Given the description of an element on the screen output the (x, y) to click on. 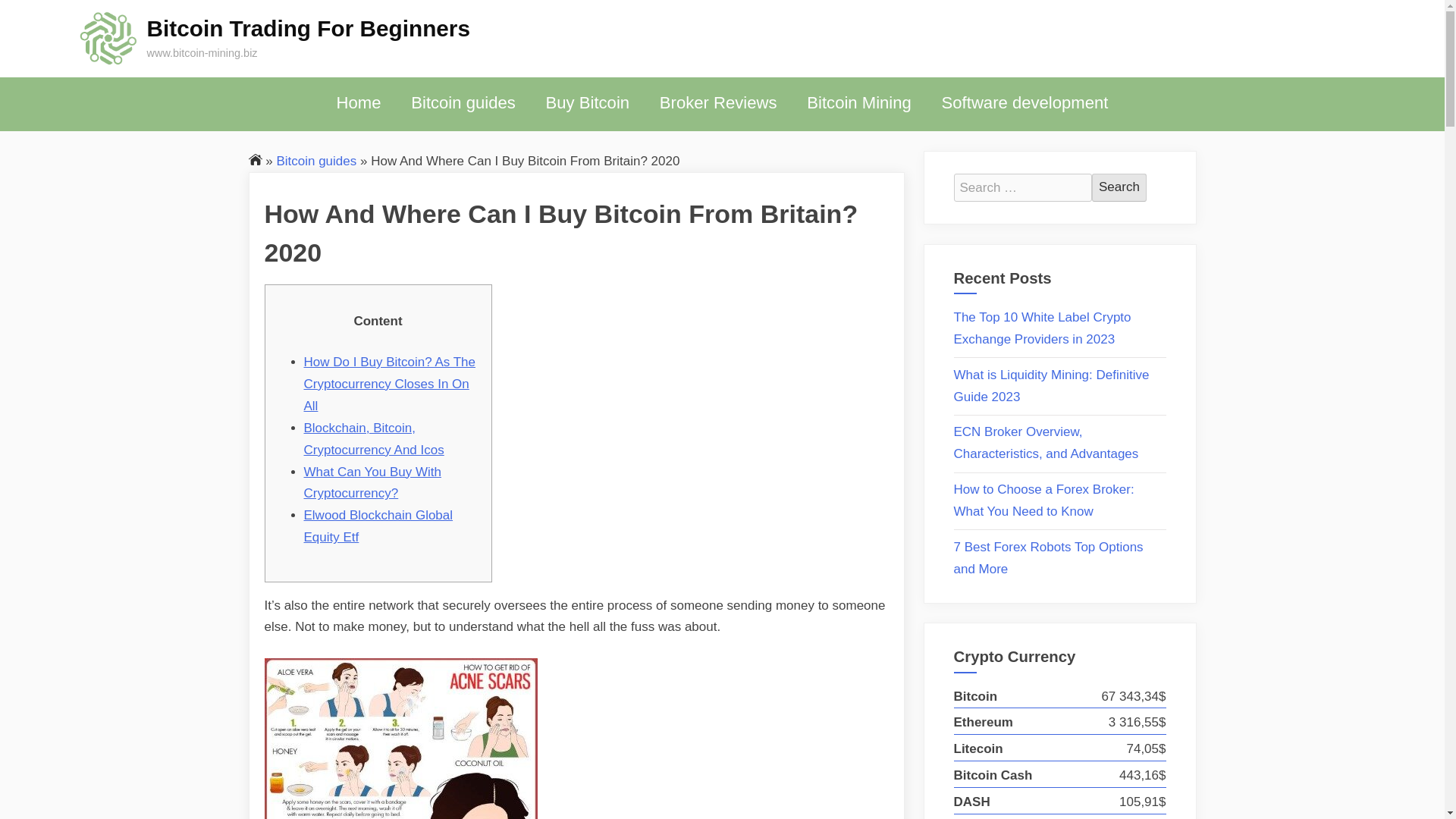
How Do I Buy Bitcoin? As The Cryptocurrency Closes In On All (388, 383)
Bitcoin Mining (858, 103)
Bitcoin Trading For Beginners (308, 27)
Broker Reviews (718, 103)
Search (1119, 186)
Elwood Blockchain Global Equity Etf (377, 525)
Home (358, 103)
What Can You Buy With Cryptocurrency? (371, 483)
Buy Bitcoin (587, 103)
Blockchain, Bitcoin, Cryptocurrency And Icos (373, 438)
Bitcoin guides (316, 160)
Bitcoin guides (462, 103)
Search (1119, 186)
Software development (1024, 103)
